Given the description of an element on the screen output the (x, y) to click on. 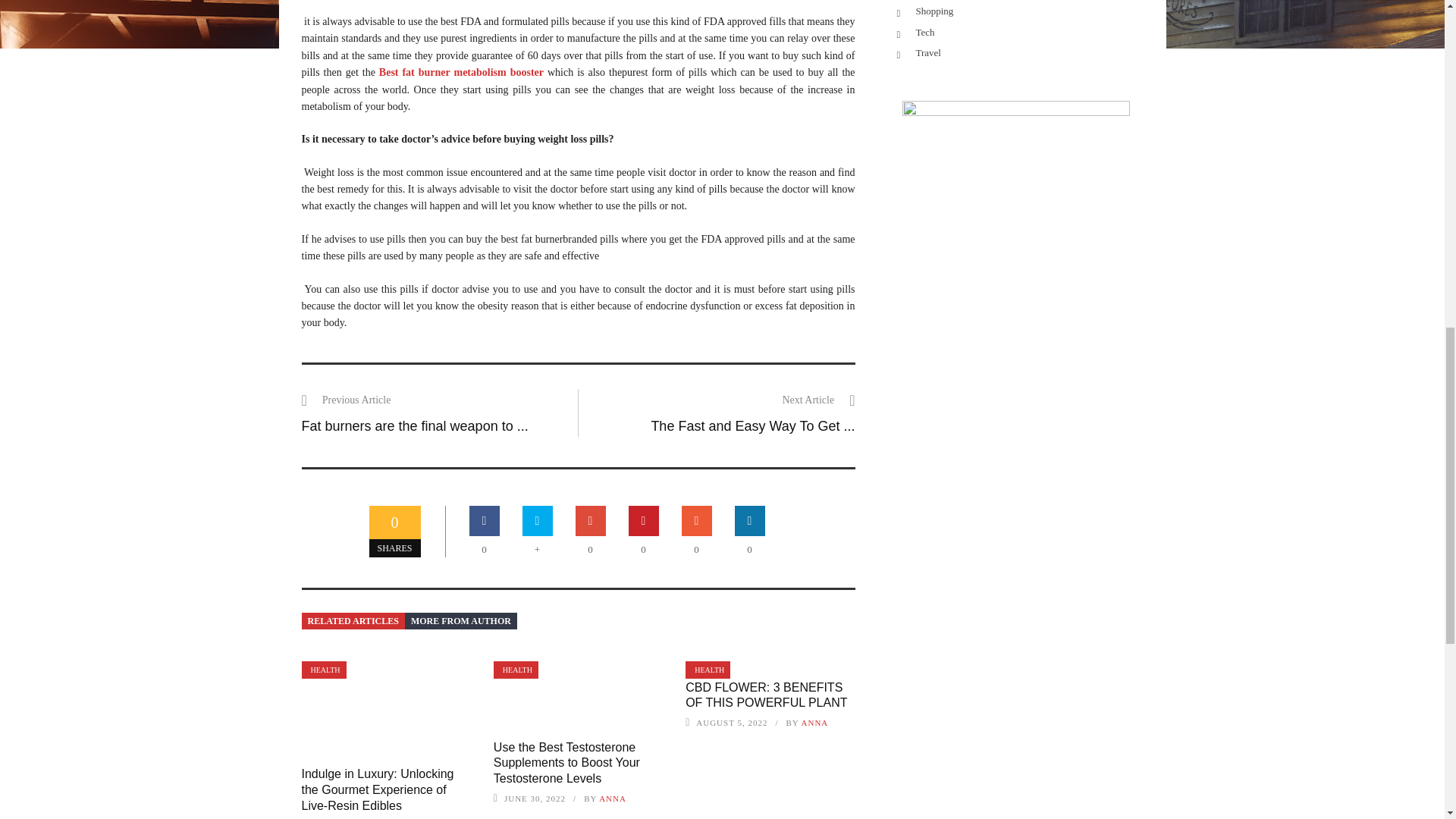
Best fat burner metabolism booster (460, 71)
Fat burners are the final weapon to ... (414, 426)
The Fast and Easy Way To Get ... (752, 426)
MORE FROM AUTHOR (460, 620)
RELATED ARTICLES (352, 620)
